Given the description of an element on the screen output the (x, y) to click on. 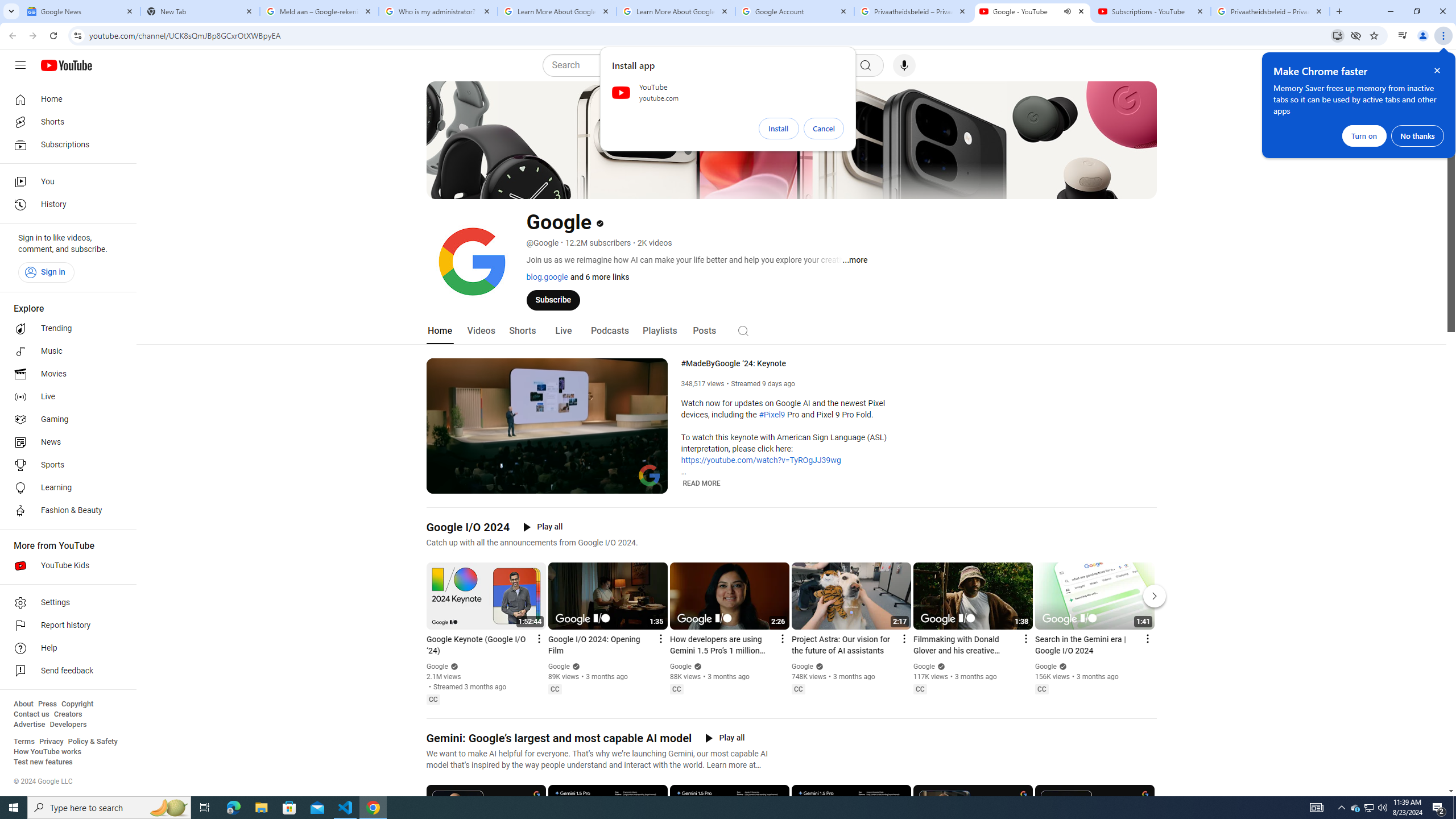
Sports (64, 464)
Guide (20, 65)
Creators (67, 714)
Copyright (77, 703)
YouTube Kids (64, 565)
Mute (m) (463, 483)
Subscriptions - YouTube (1150, 11)
Playlists (659, 330)
